Given the description of an element on the screen output the (x, y) to click on. 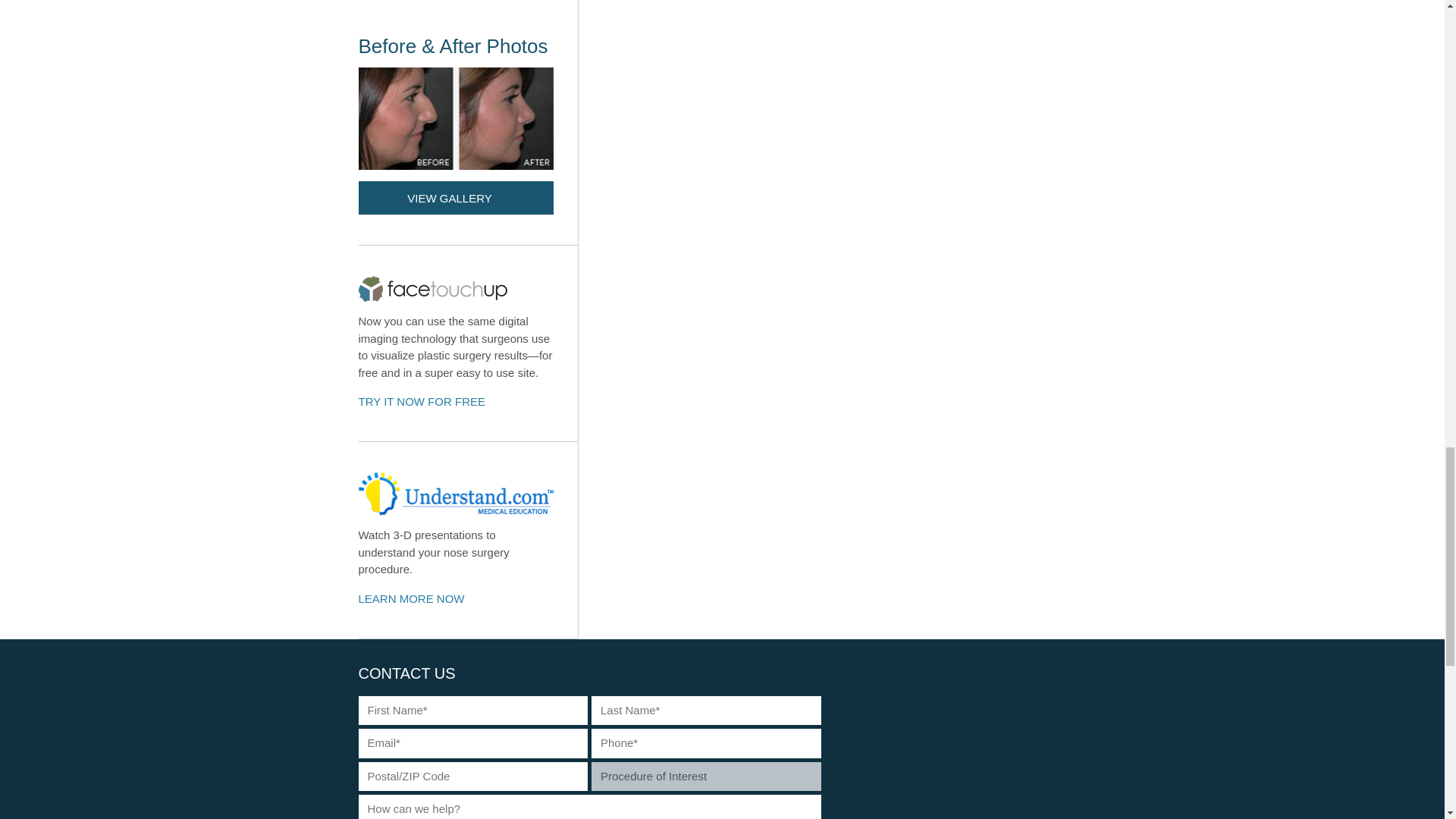
Learn More Now (467, 540)
Try it Now for Free (430, 401)
Learn More Now (419, 598)
View Gallery (455, 197)
View Gallery (467, 124)
Try it Now for Free (467, 343)
